Given the description of an element on the screen output the (x, y) to click on. 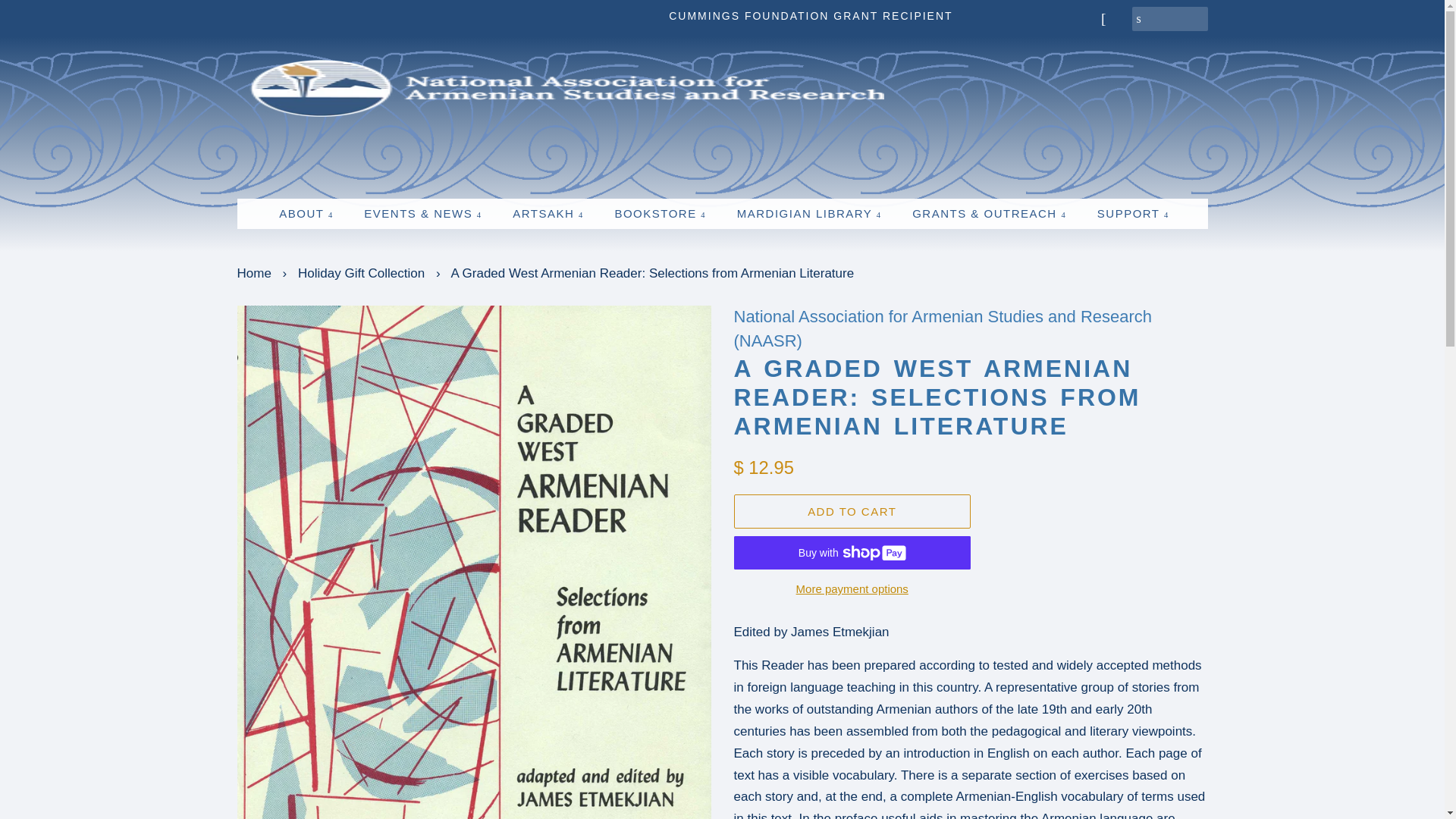
CUMMINGS FOUNDATION GRANT RECIPIENT (810, 15)
Back to the frontpage (255, 273)
